Given the description of an element on the screen output the (x, y) to click on. 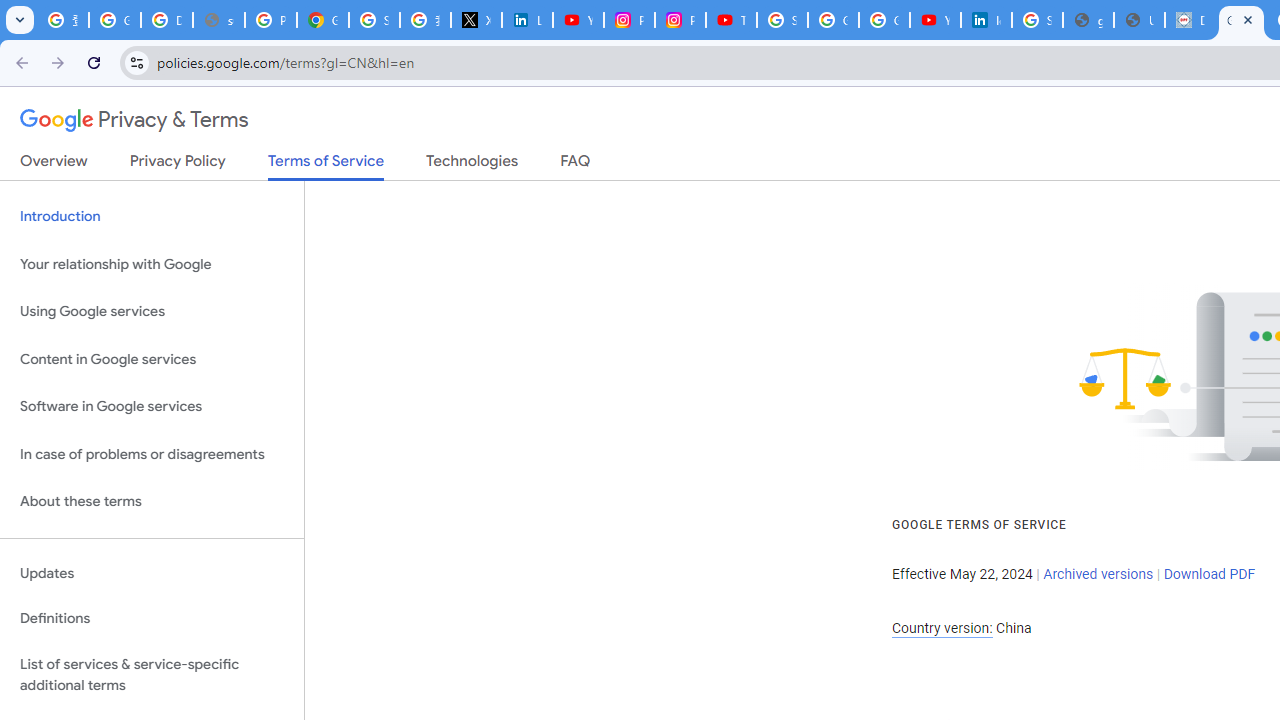
Overview (54, 165)
Sign in - Google Accounts (781, 20)
YouTube Content Monetization Policies - How YouTube Works (578, 20)
Download PDF (1209, 574)
Search tabs (20, 20)
Country version: (942, 628)
X (475, 20)
List of services & service-specific additional terms (152, 674)
Terms of Service (326, 166)
LinkedIn Privacy Policy (526, 20)
